Given the description of an element on the screen output the (x, y) to click on. 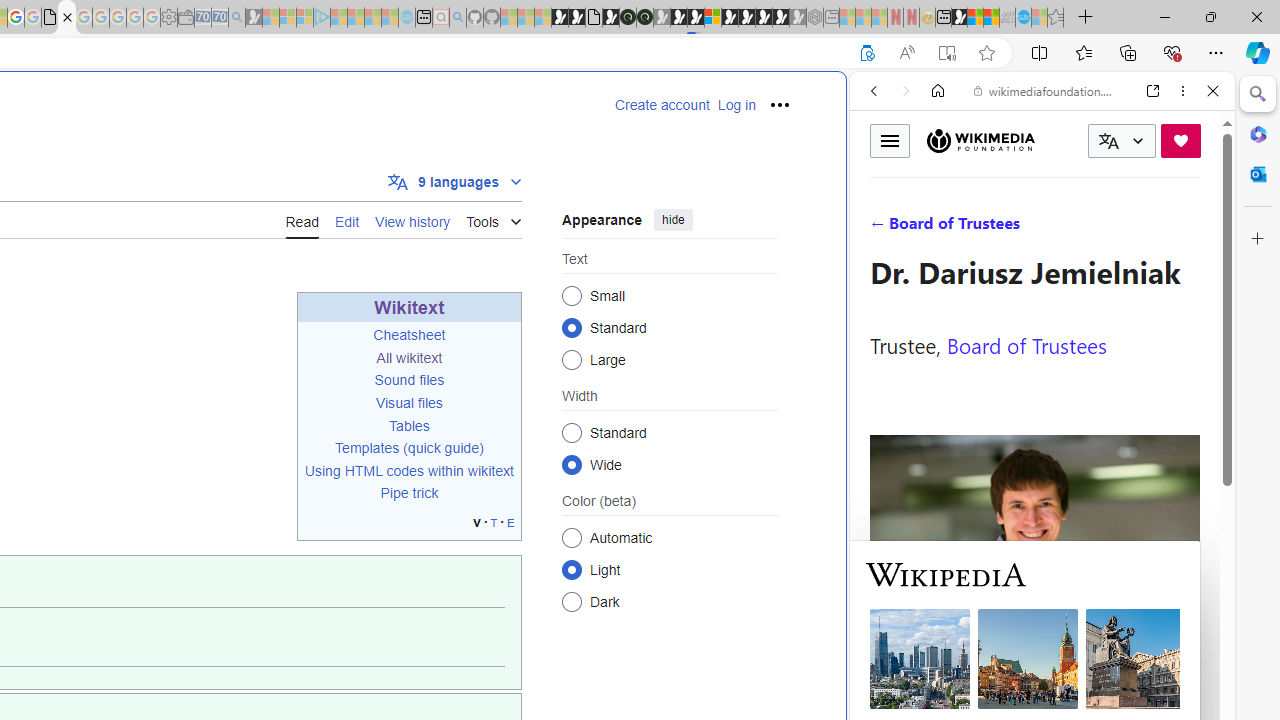
Pipe trick (409, 492)
Support Wikipedia? (867, 53)
Large (571, 359)
Toggle menu (890, 140)
Tables (409, 425)
Create account (662, 105)
Using HTML codes within wikitext (409, 471)
